Given the description of an element on the screen output the (x, y) to click on. 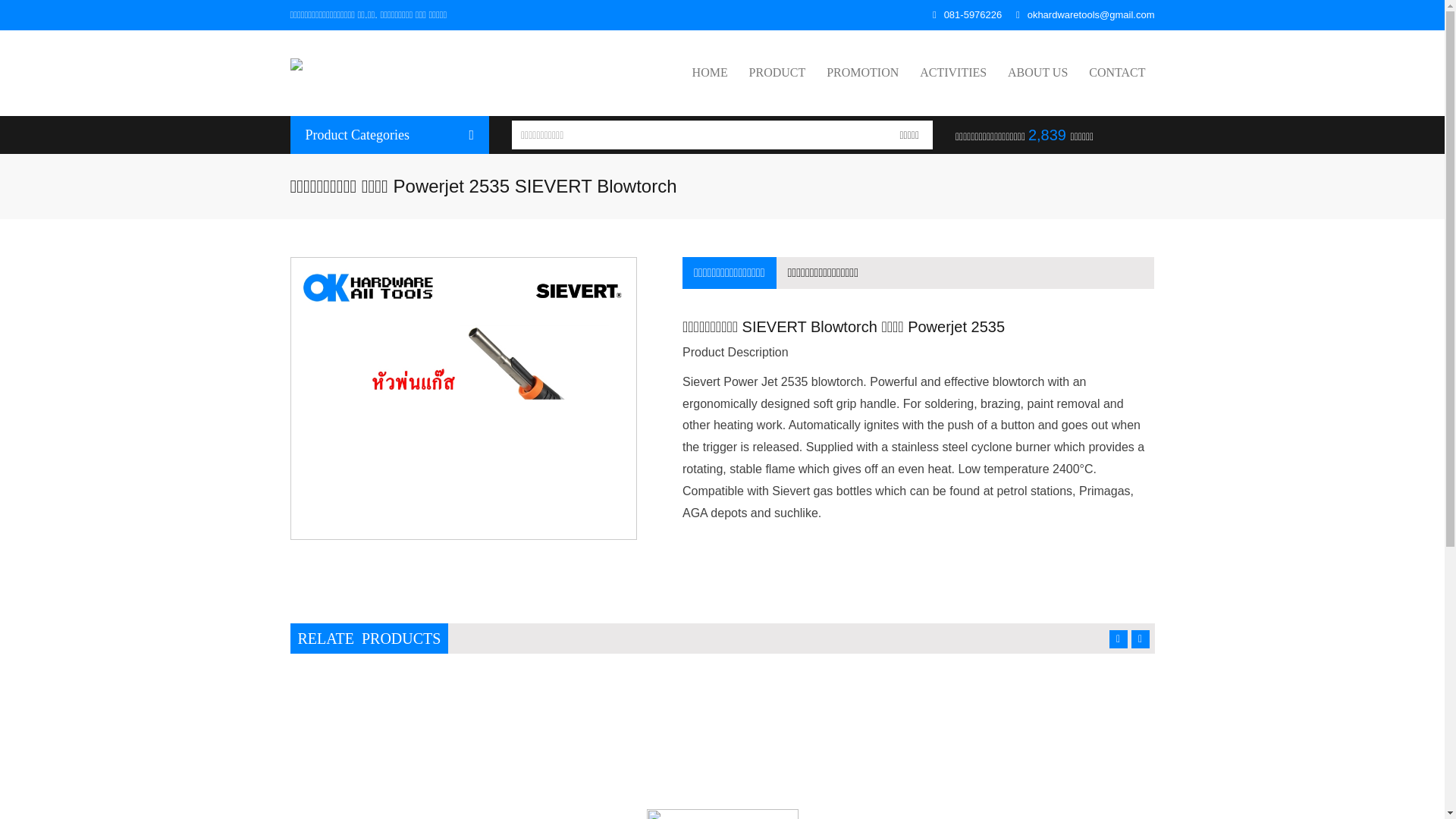
081-5976226 (967, 14)
ACTIVITIES (953, 73)
ABOUT US (1037, 73)
PROMOTION (861, 73)
